Given the description of an element on the screen output the (x, y) to click on. 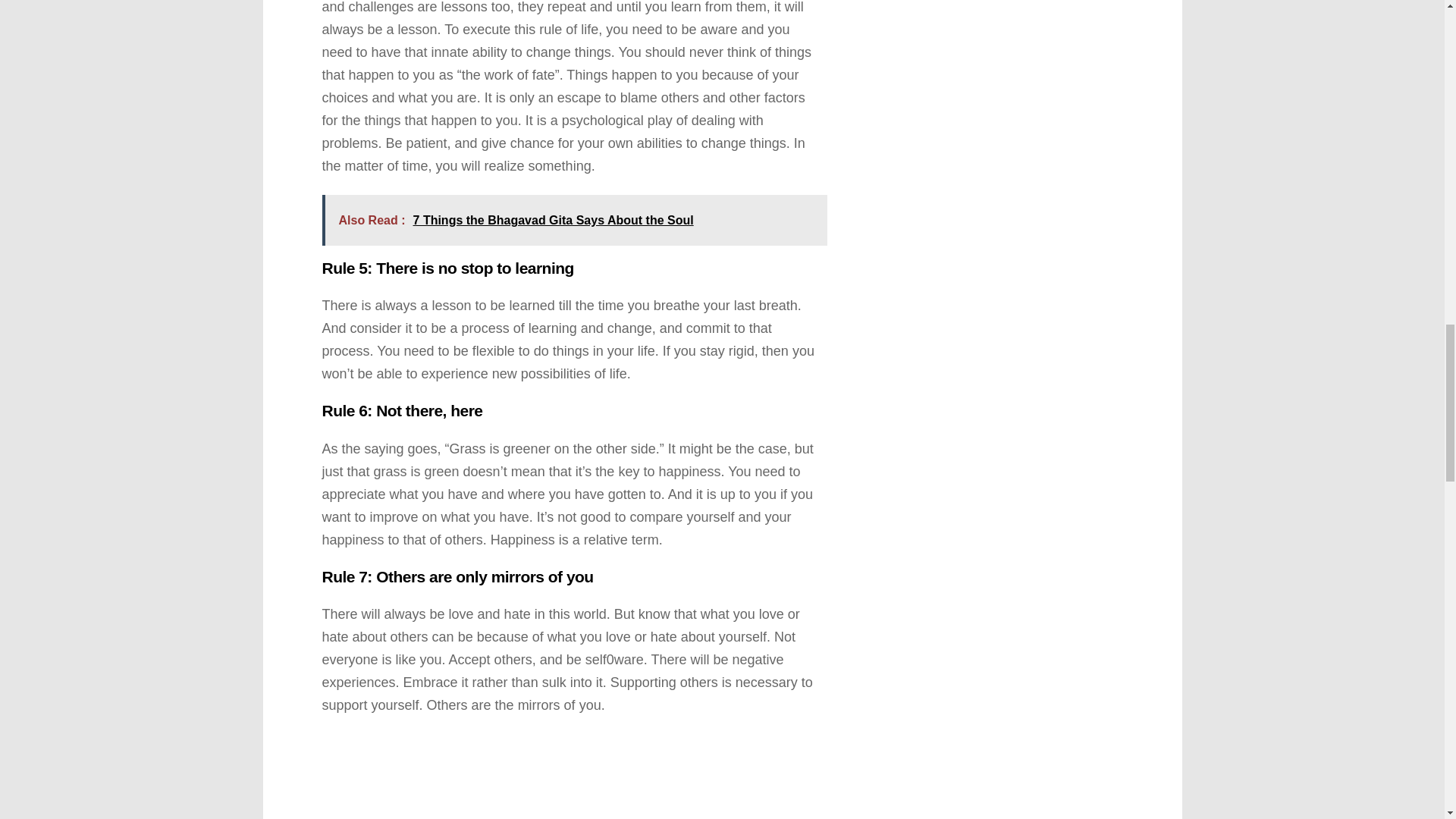
Also Read :  7 Things the Bhagavad Gita Says About the Soul (574, 219)
